Given the description of an element on the screen output the (x, y) to click on. 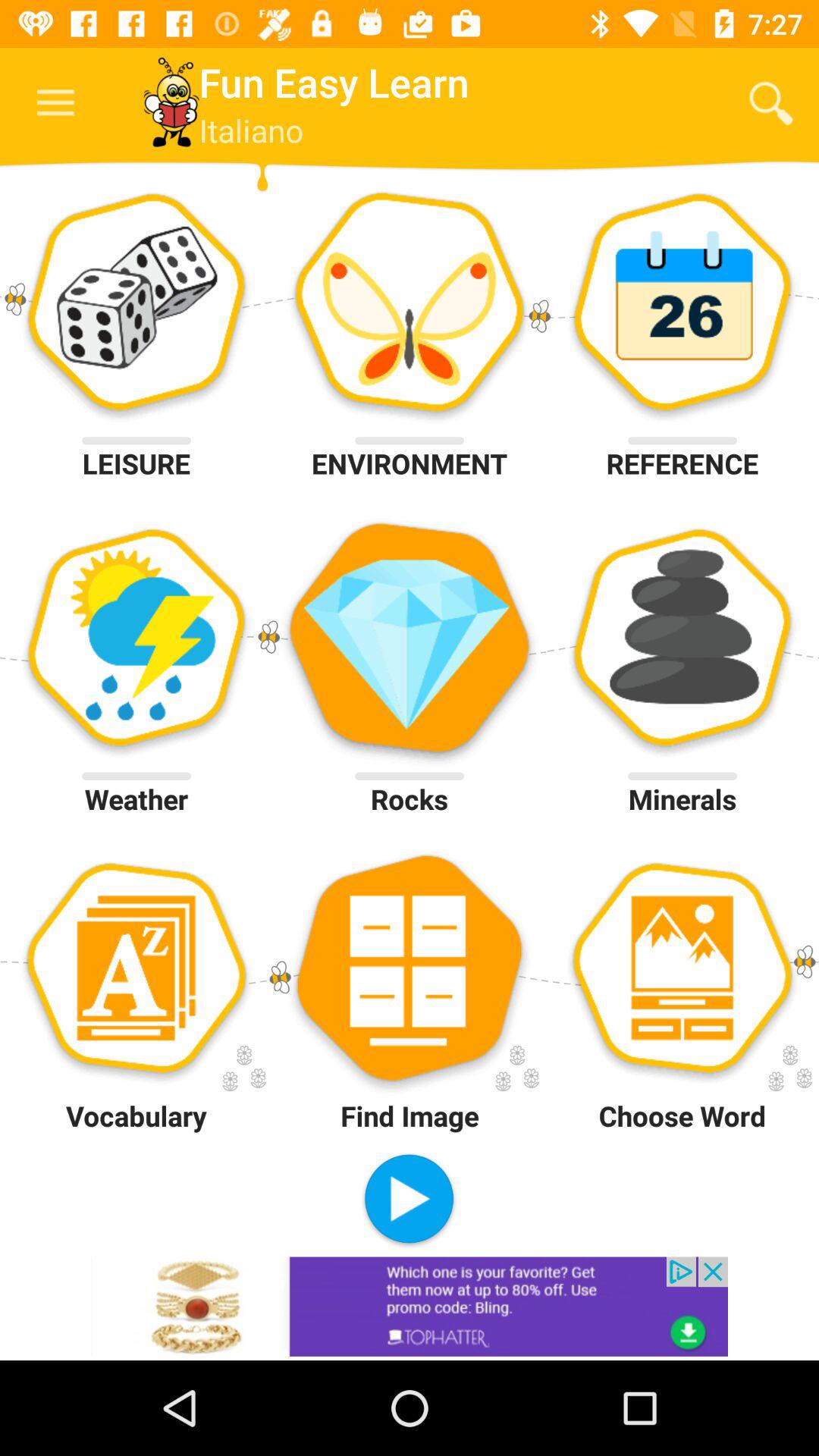
view advertisement (409, 1306)
